Given the description of an element on the screen output the (x, y) to click on. 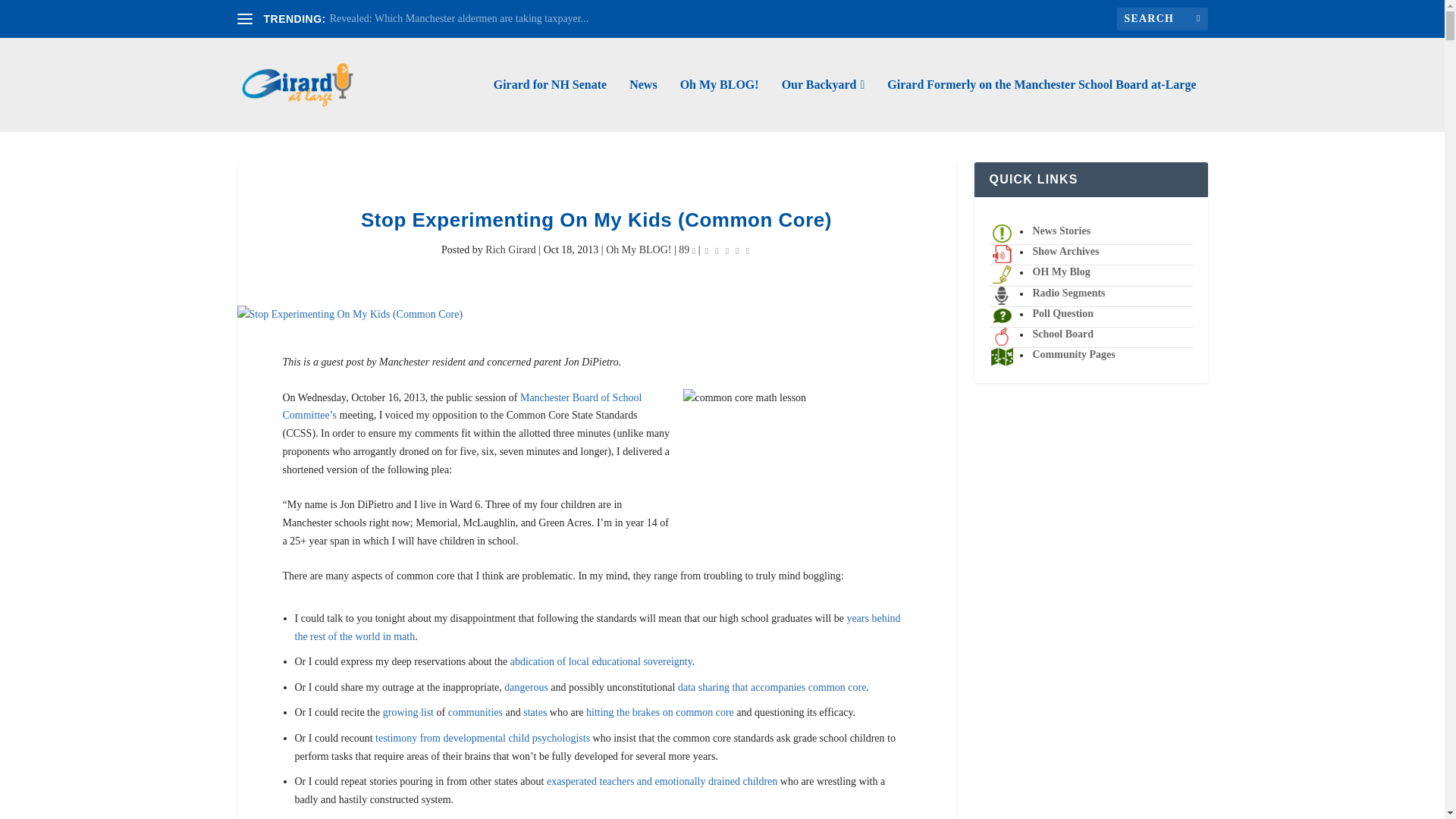
Rating: 0.00 (727, 250)
Our Backyard (822, 104)
Girard for NH Senate (550, 104)
Revealed: Which Manchester aldermen are taking taxpayer... (459, 18)
Oh My BLOG! (718, 104)
Posts by Rich Girard (509, 249)
Search for: (1161, 18)
